Given the description of an element on the screen output the (x, y) to click on. 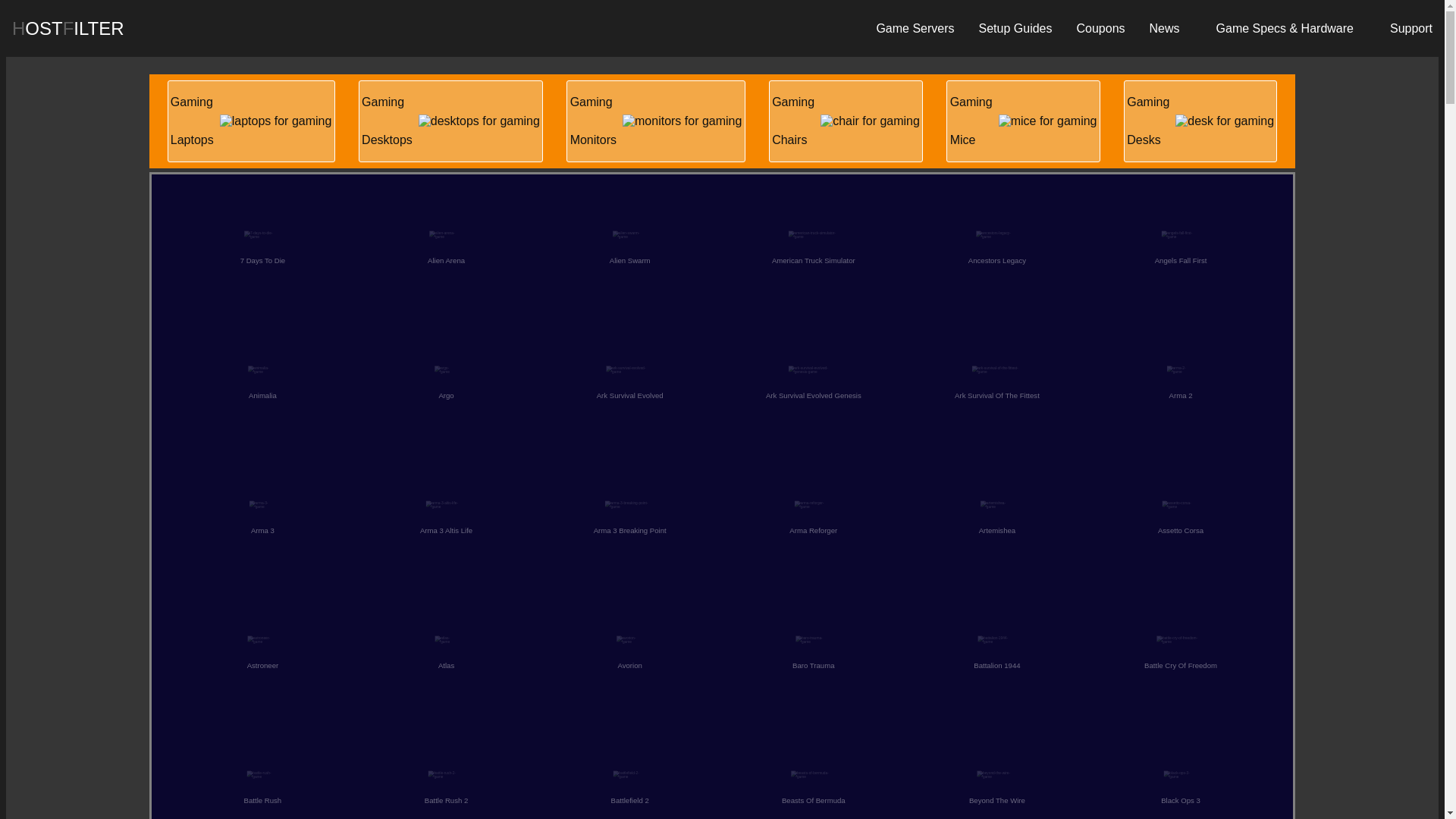
Animalia (260, 387)
Ark Survival Evolved (628, 387)
Alien Swarm (628, 252)
Arma 2 (845, 121)
Ark Survival Of The Fittest (450, 121)
Angels Fall First (1178, 387)
7 Days To Die (655, 121)
